Given the description of an element on the screen output the (x, y) to click on. 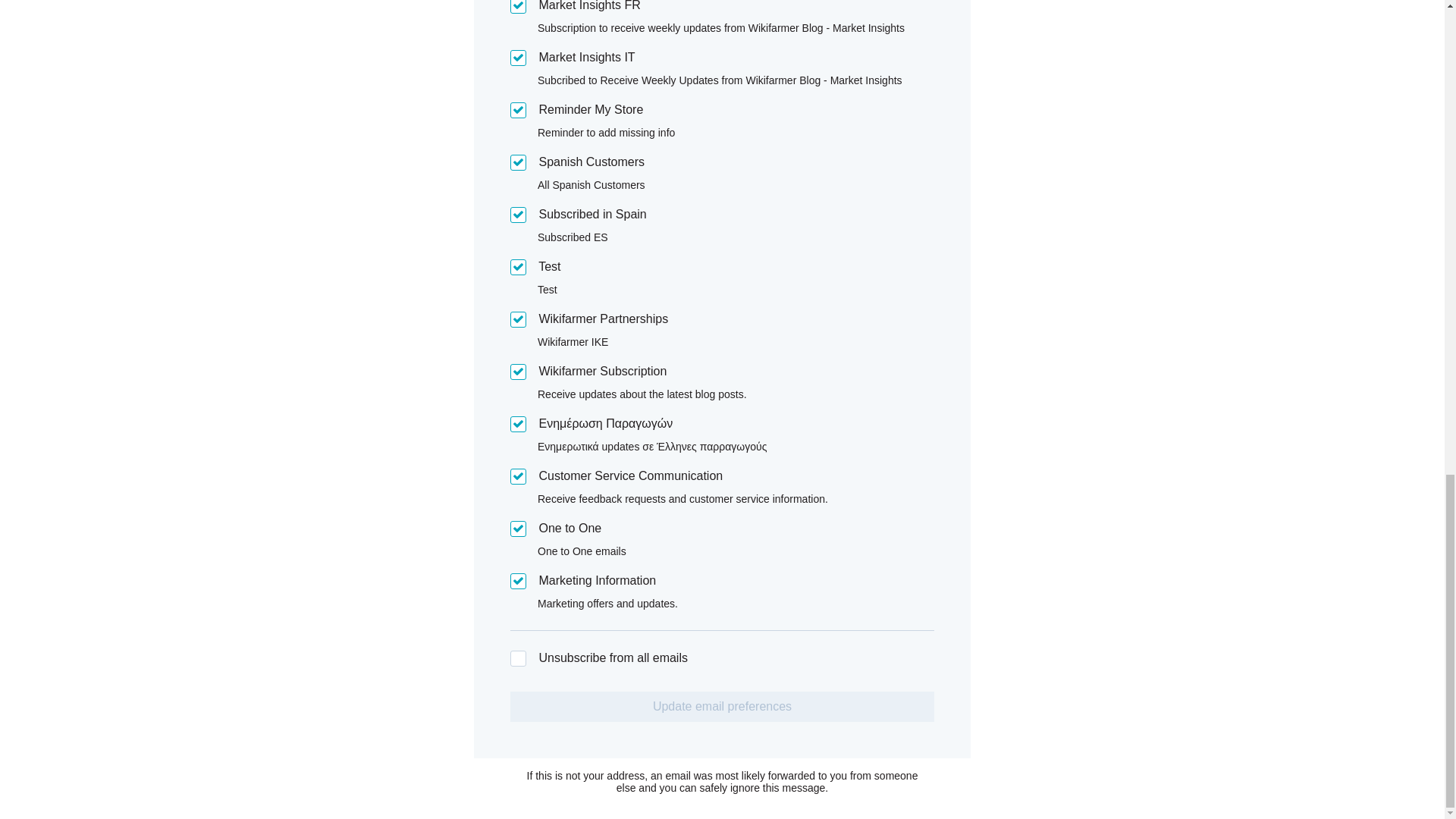
on (518, 580)
on (518, 658)
Update email preferences (722, 706)
on (518, 319)
on (518, 214)
on (518, 476)
on (518, 424)
on (518, 162)
on (518, 6)
on (518, 267)
on (518, 109)
on (518, 528)
Update email preferences (722, 706)
on (518, 57)
on (518, 371)
